Given the description of an element on the screen output the (x, y) to click on. 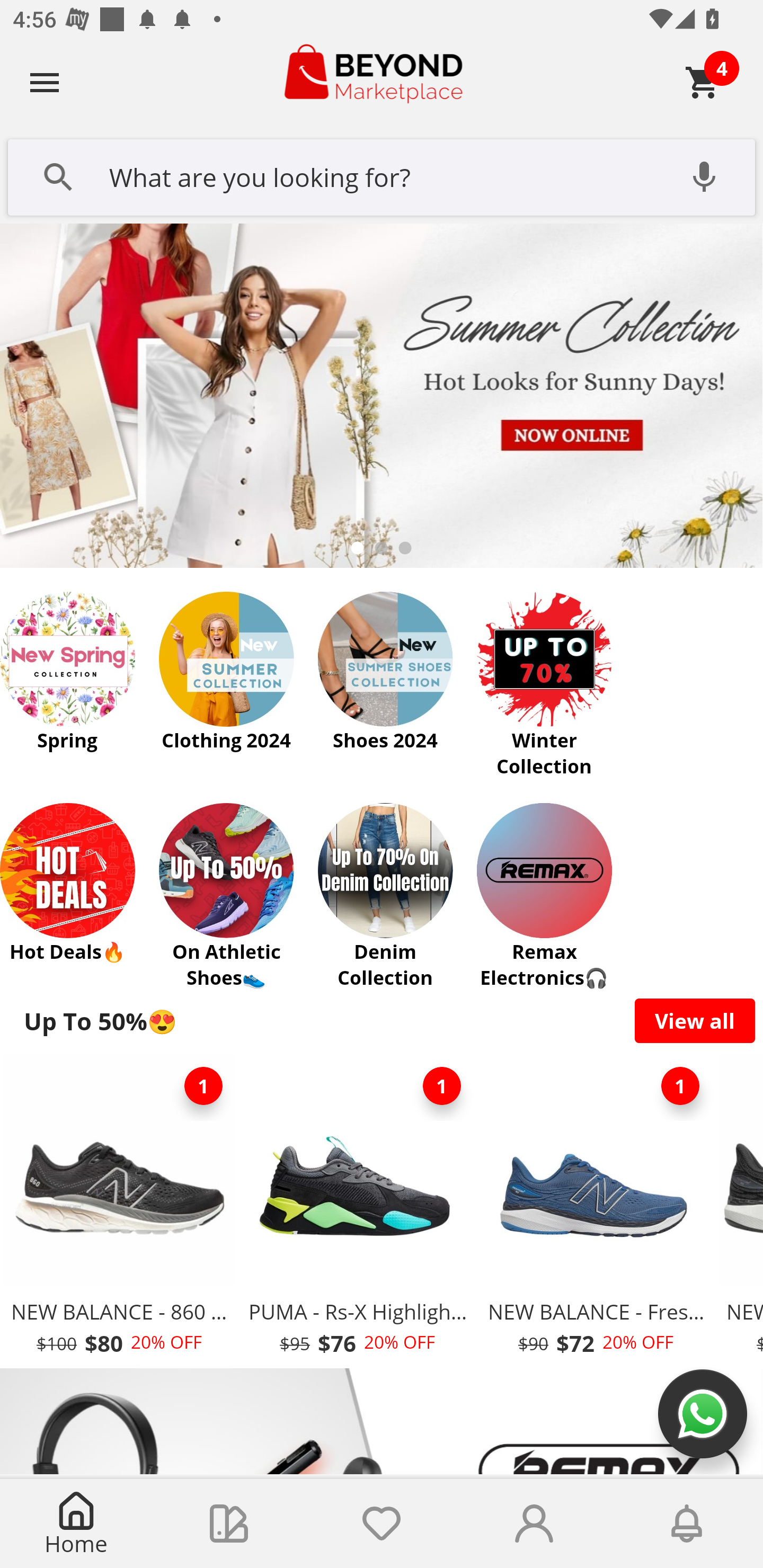
Navigate up (44, 82)
What are you looking for? (381, 175)
View all (694, 1020)
1 NEW BALANCE - 860 Running Shoes $100 $80 20% OFF (119, 1209)
1 (203, 1085)
1 (441, 1085)
1 (680, 1085)
Collections (228, 1523)
Wishlist (381, 1523)
Account (533, 1523)
Notifications (686, 1523)
